Given the description of an element on the screen output the (x, y) to click on. 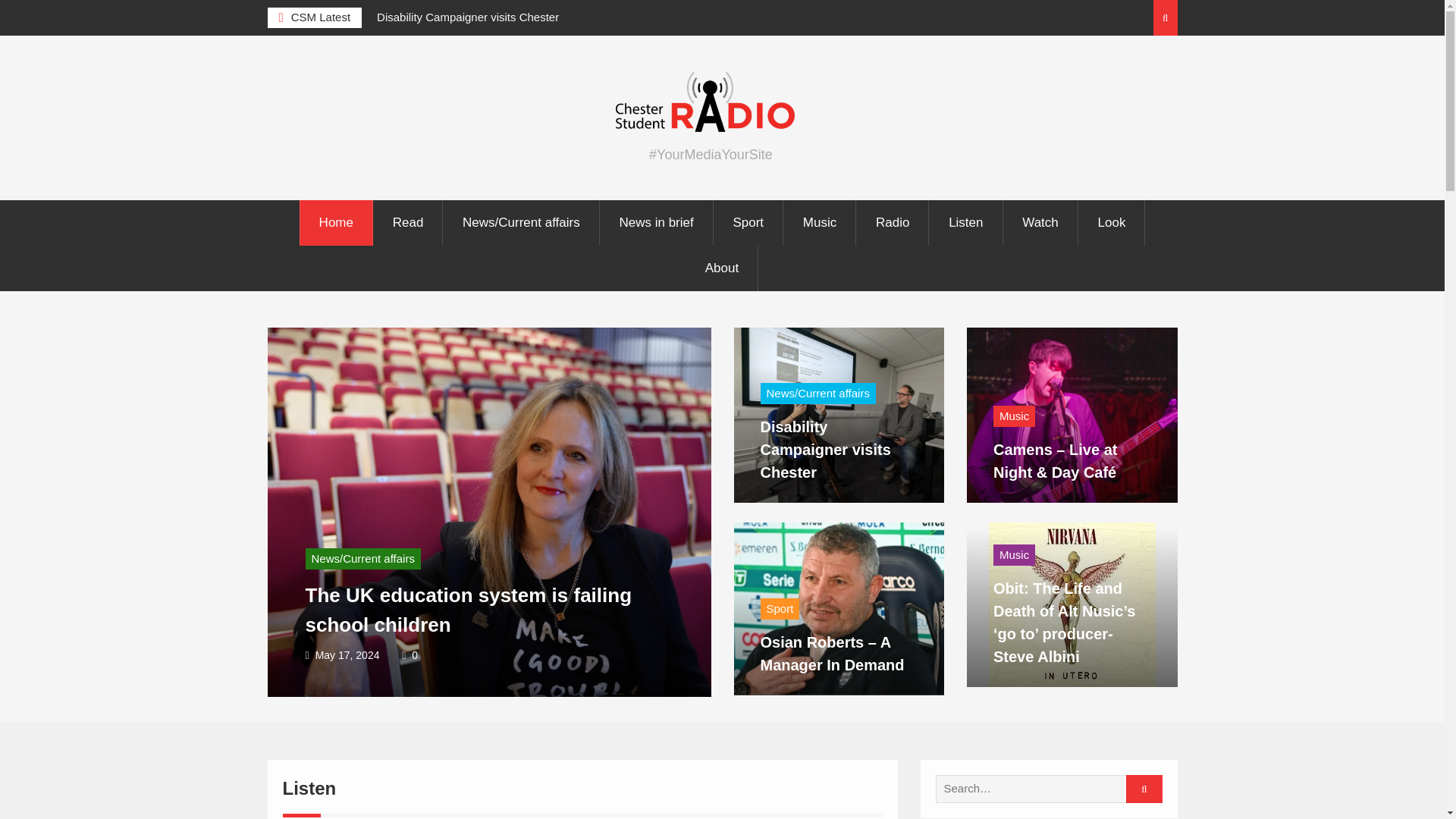
Radio (892, 222)
Music (820, 222)
The UK education system is failing school children (467, 609)
Listen (966, 222)
News in brief (656, 222)
Sport (748, 222)
Watch (1040, 222)
Search for: (1043, 788)
Disability Campaigner visits Chester (467, 17)
Home (335, 222)
